Given the description of an element on the screen output the (x, y) to click on. 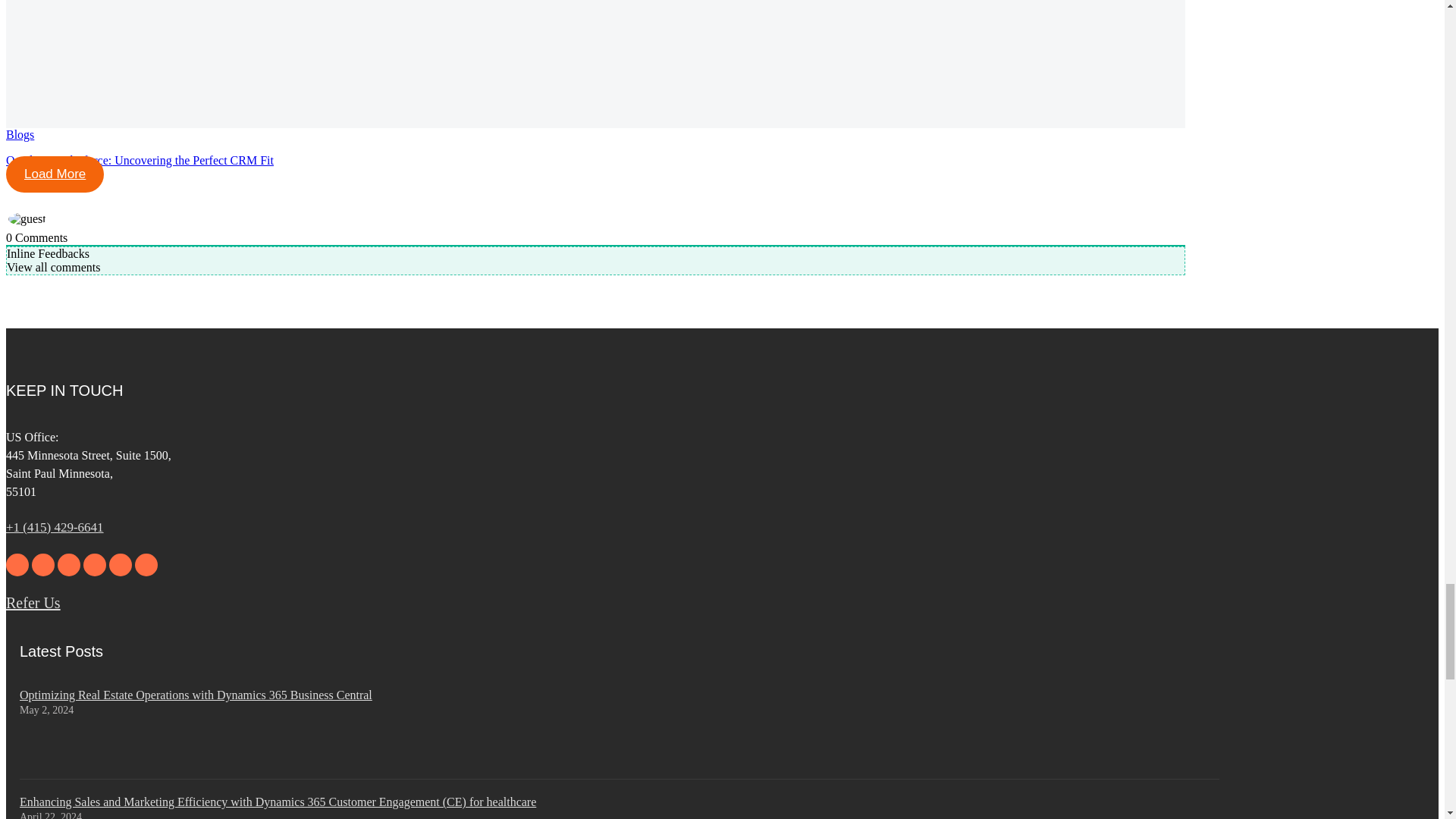
0 (8, 237)
